Given the description of an element on the screen output the (x, y) to click on. 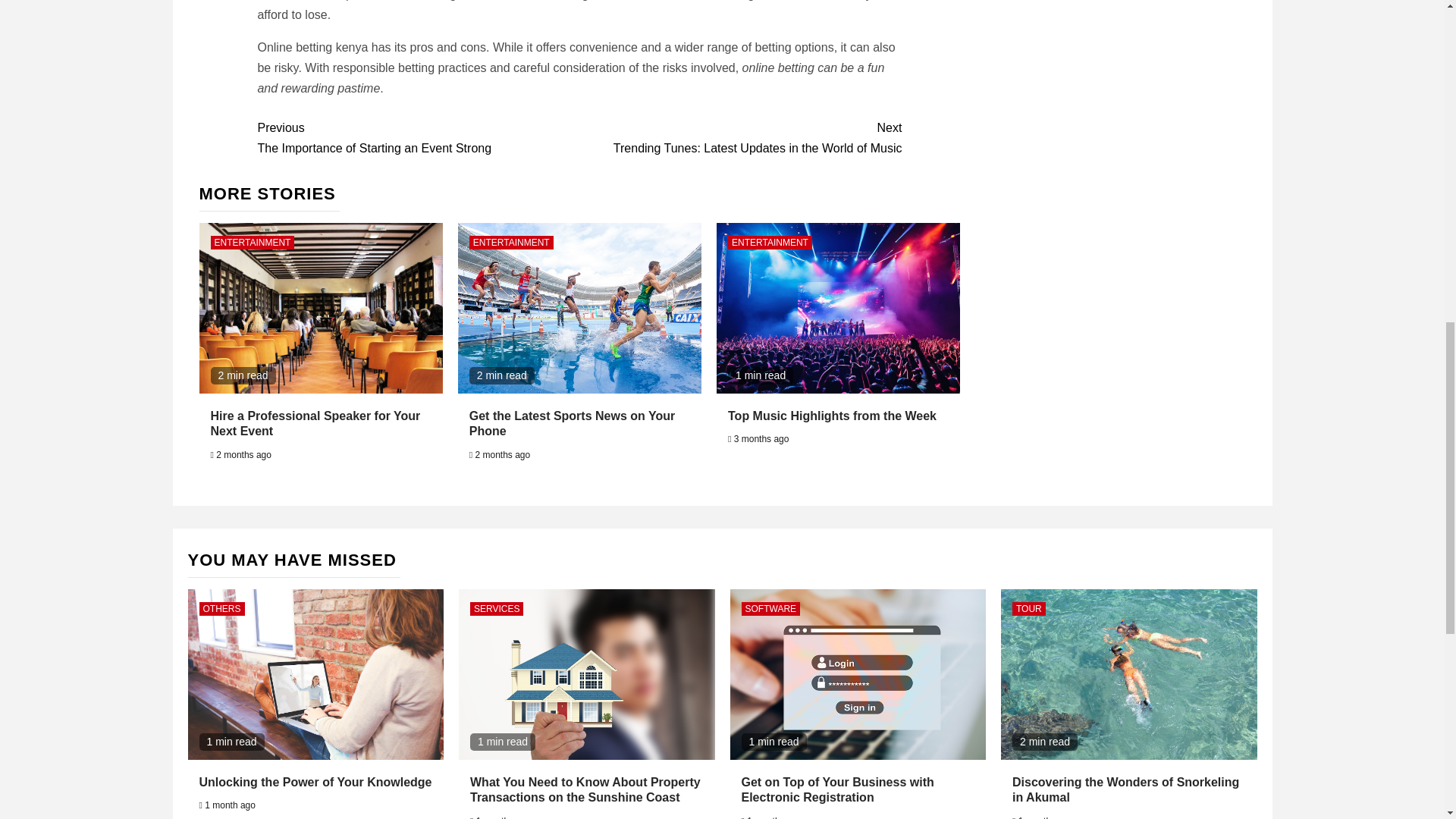
SERVICES (496, 608)
SOFTWARE (770, 608)
Top Music Highlights from the Week (832, 415)
Get on Top of Your Business with Electronic Registration (837, 789)
Discovering the Wonders of Snorkeling in Akumal (1125, 789)
Hire a Professional Speaker for Your Next Event (315, 423)
TOUR (740, 137)
Get the Latest Sports News on Your Phone (1028, 608)
